Given the description of an element on the screen output the (x, y) to click on. 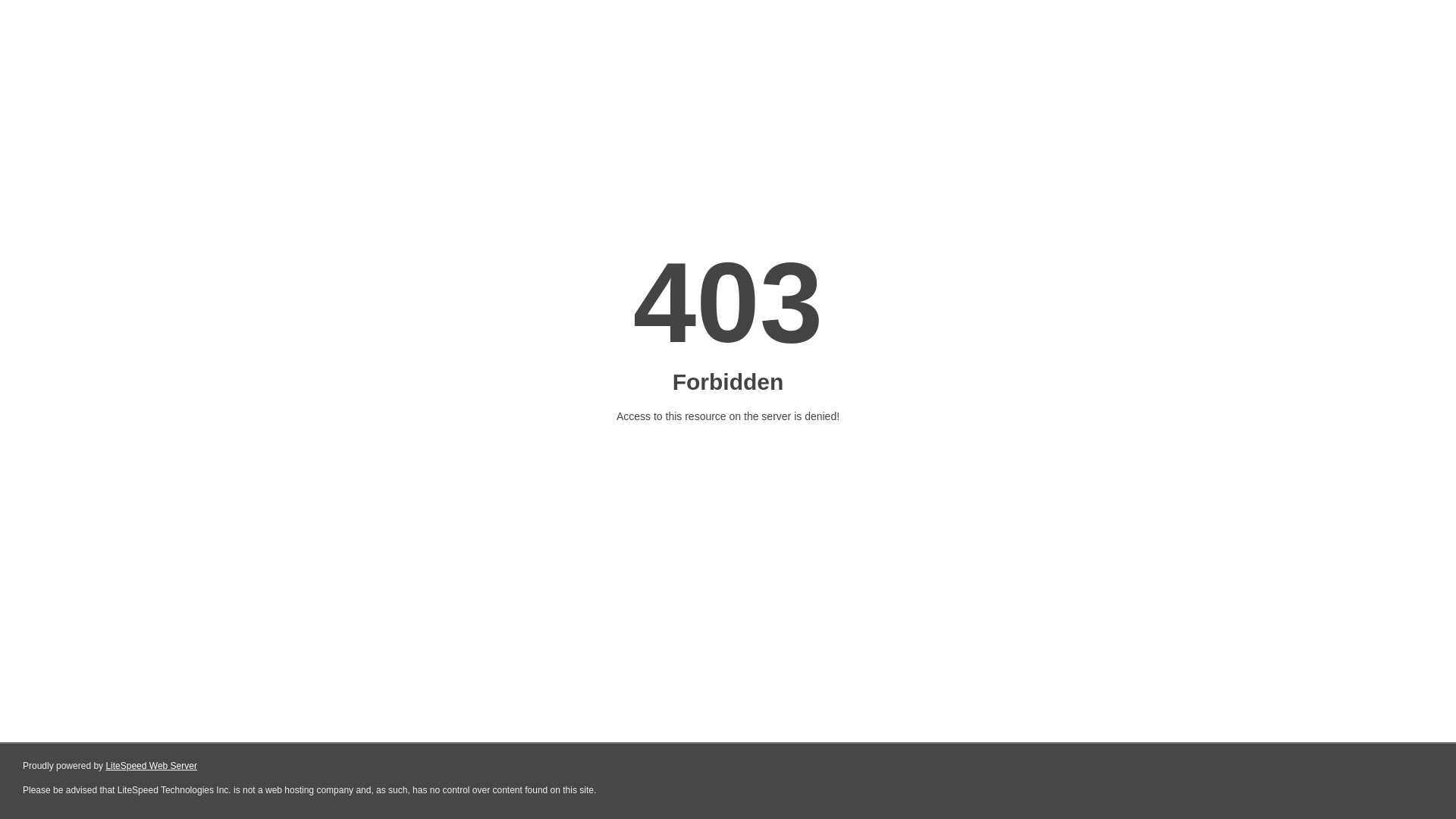
LiteSpeed Web Server Element type: text (151, 765)
